Given the description of an element on the screen output the (x, y) to click on. 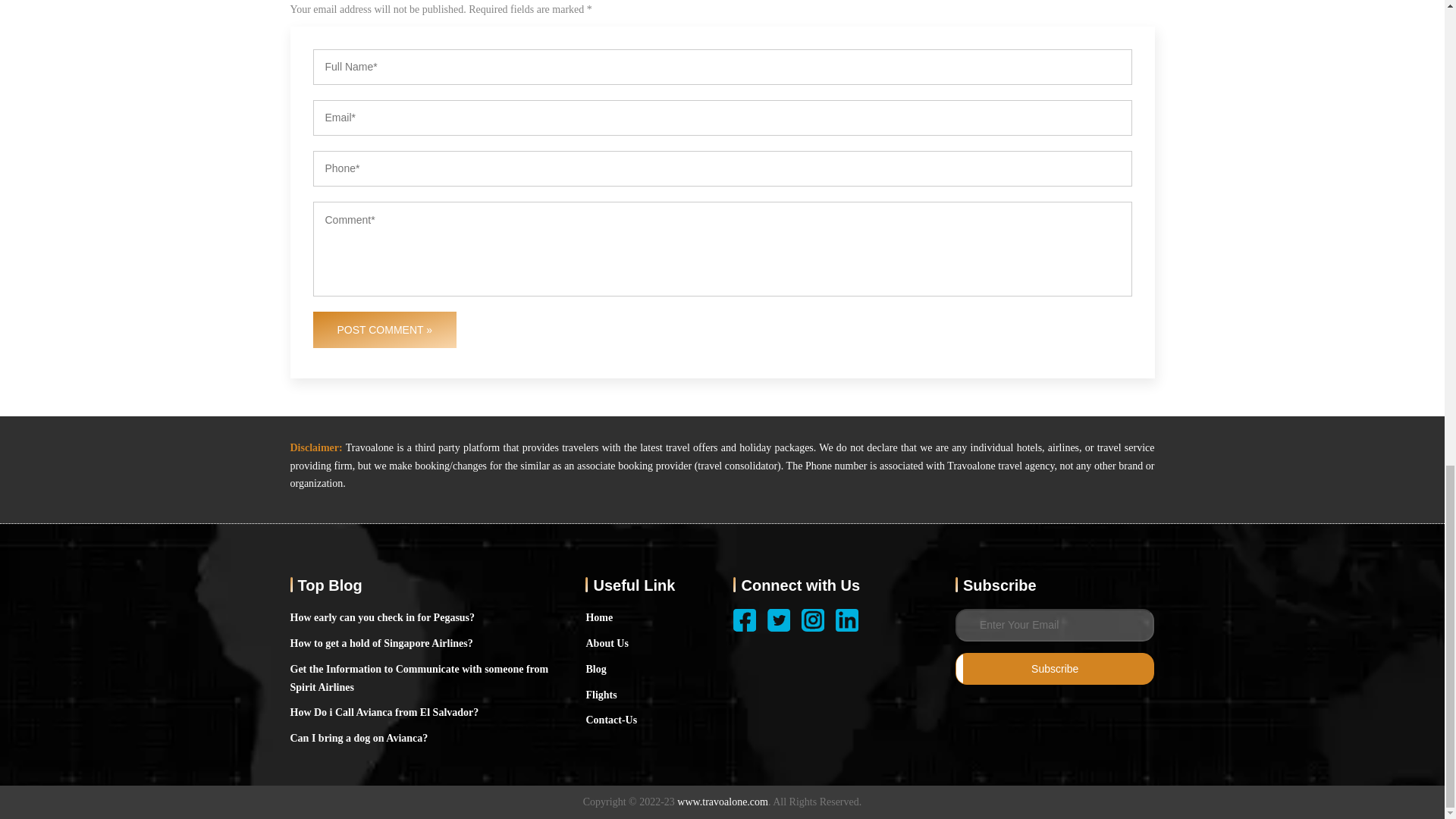
www.travoalone.com (722, 802)
About Us (606, 643)
How early can you check in for Pegasus? (381, 618)
Blog (595, 669)
Contact-Us (611, 720)
Home (598, 618)
Subscribe (1054, 668)
Flights (600, 695)
How Do i Call Avianca from El Salvador? (384, 712)
How to get a hold of Singapore Airlines? (380, 643)
Can I bring a dog on Avianca? (358, 738)
